Given the description of an element on the screen output the (x, y) to click on. 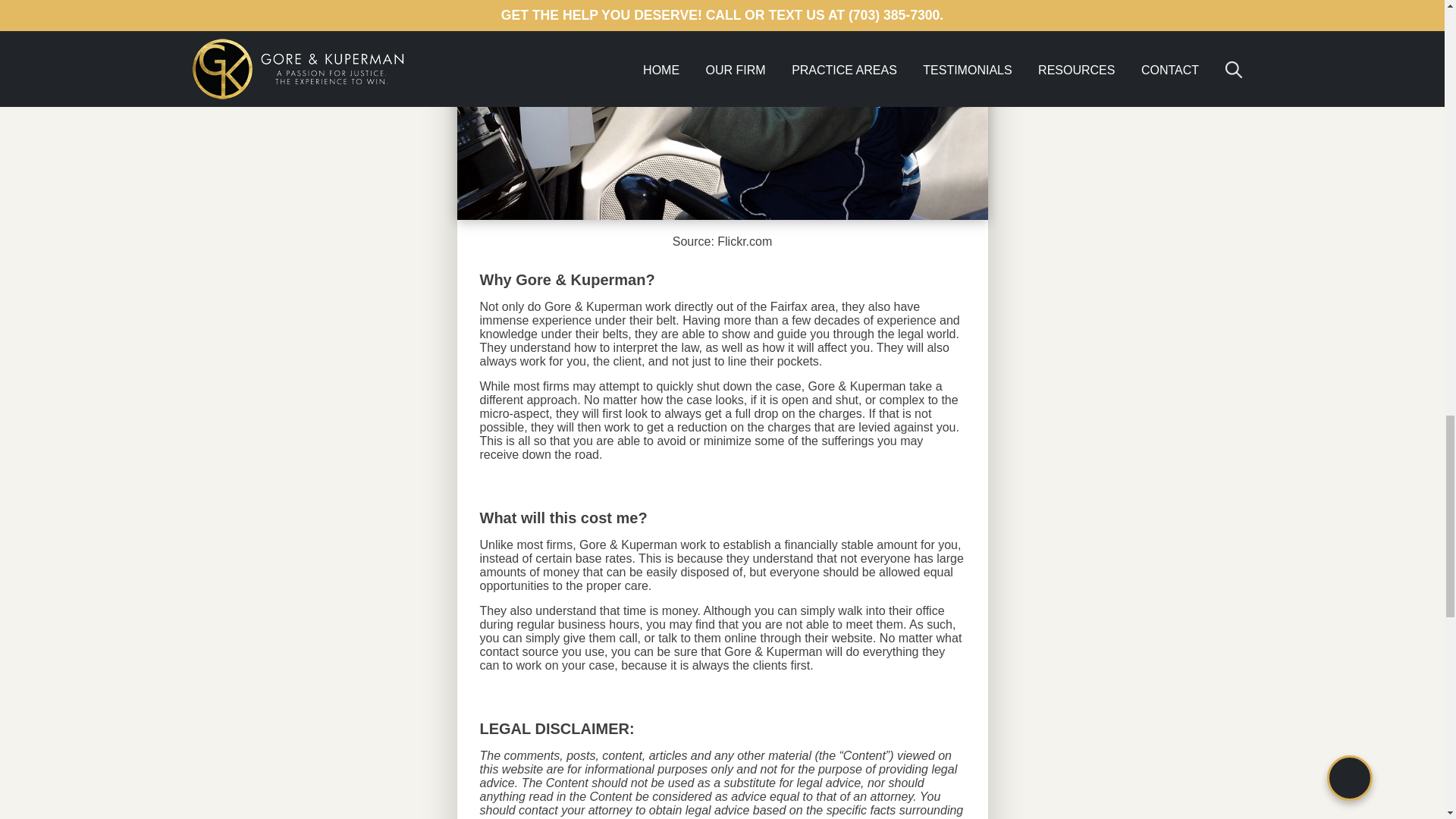
Contact a Fairfax Reckless Driving Lawyer Today! 2 (722, 110)
